Given the description of an element on the screen output the (x, y) to click on. 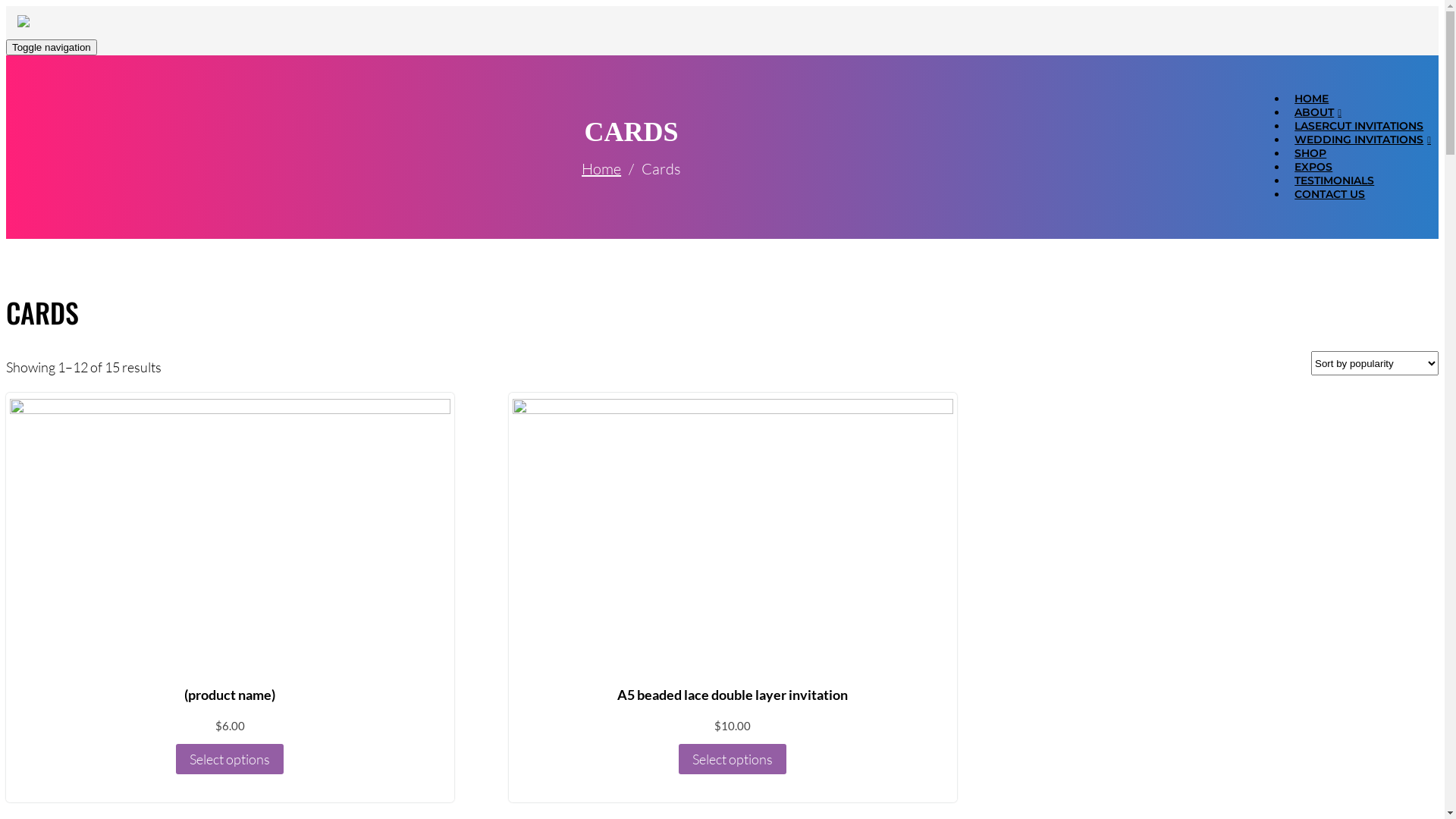
(product name)
$6.00 Element type: text (229, 581)
ABOUT Element type: text (1317, 111)
Select options Element type: text (732, 758)
Select options Element type: text (229, 758)
TESTIMONIALS Element type: text (1333, 180)
A5 beaded lace double layer invitation
$10.00 Element type: text (732, 581)
Home Element type: text (601, 168)
LASERCUT INVITATIONS Element type: text (1358, 125)
EXPOS Element type: text (1312, 166)
WEDDING INVITATIONS Element type: text (1362, 139)
CONTACT US Element type: text (1329, 193)
HOME Element type: text (1311, 98)
SHOP Element type: text (1309, 152)
Toggle navigation Element type: text (51, 47)
